Given the description of an element on the screen output the (x, y) to click on. 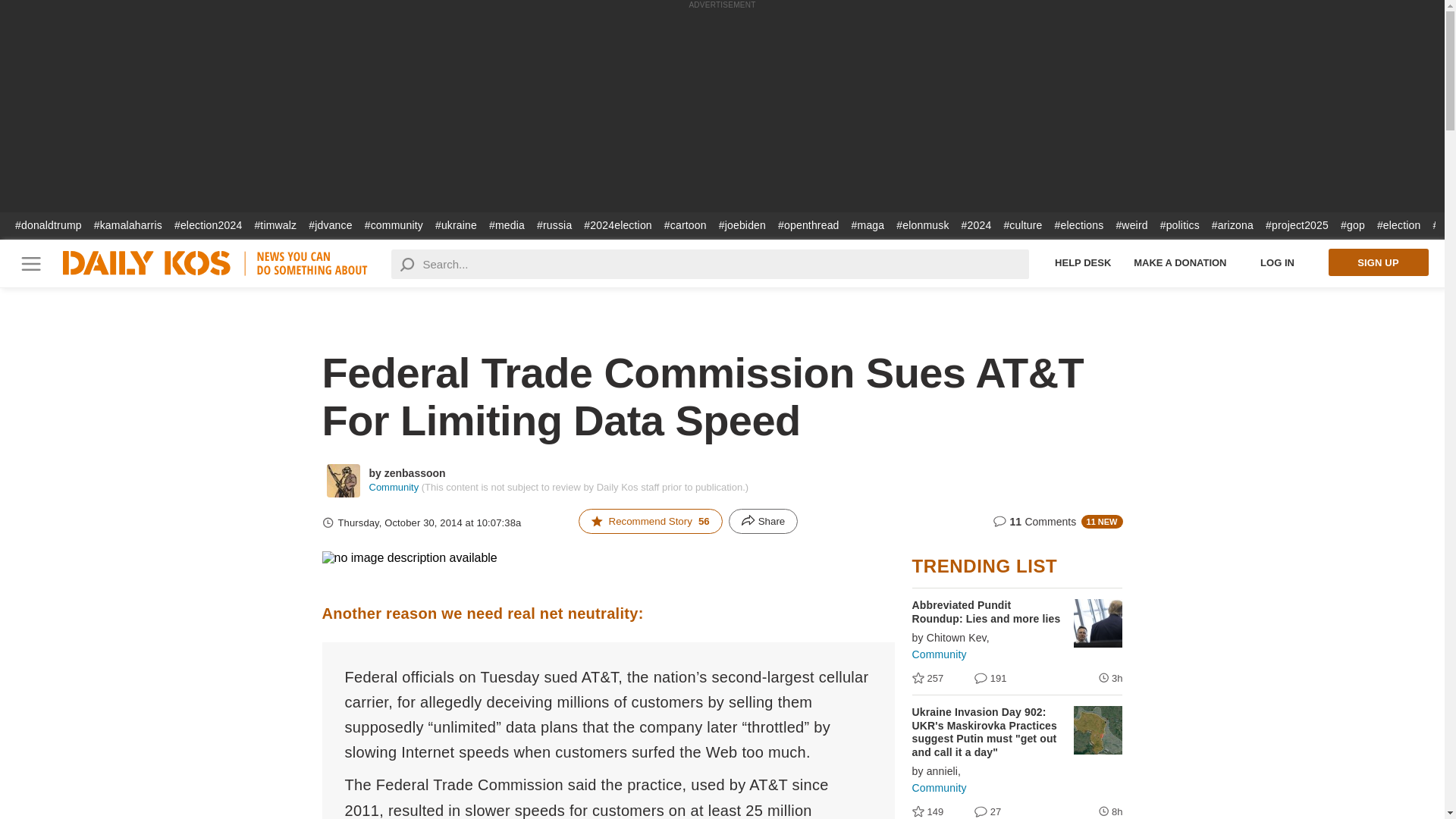
MAKE A DONATION (1179, 262)
Help Desk (1082, 262)
Make a Donation (1179, 262)
